Given the description of an element on the screen output the (x, y) to click on. 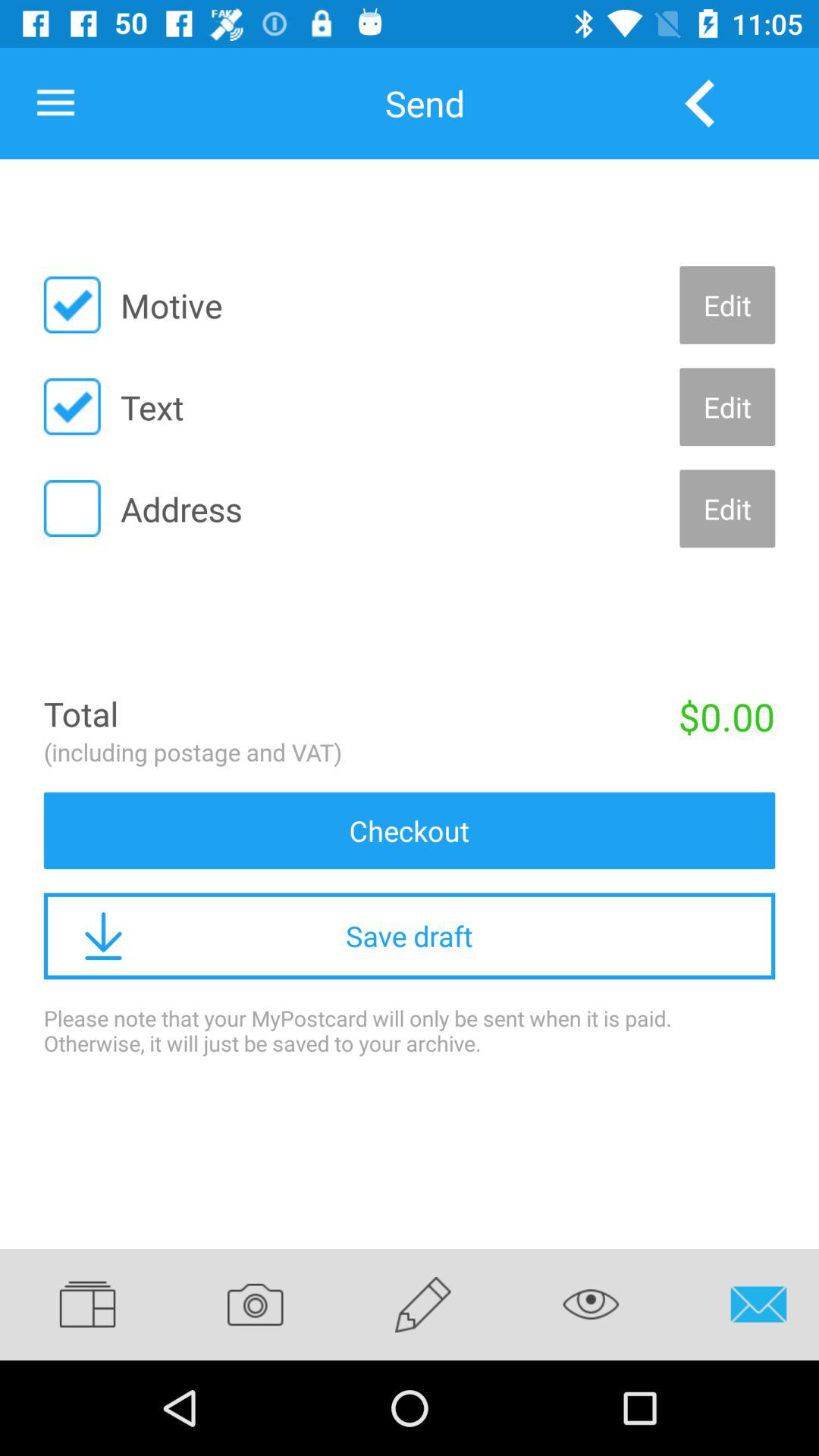
select the item to the right of send icon (699, 103)
